Given the description of an element on the screen output the (x, y) to click on. 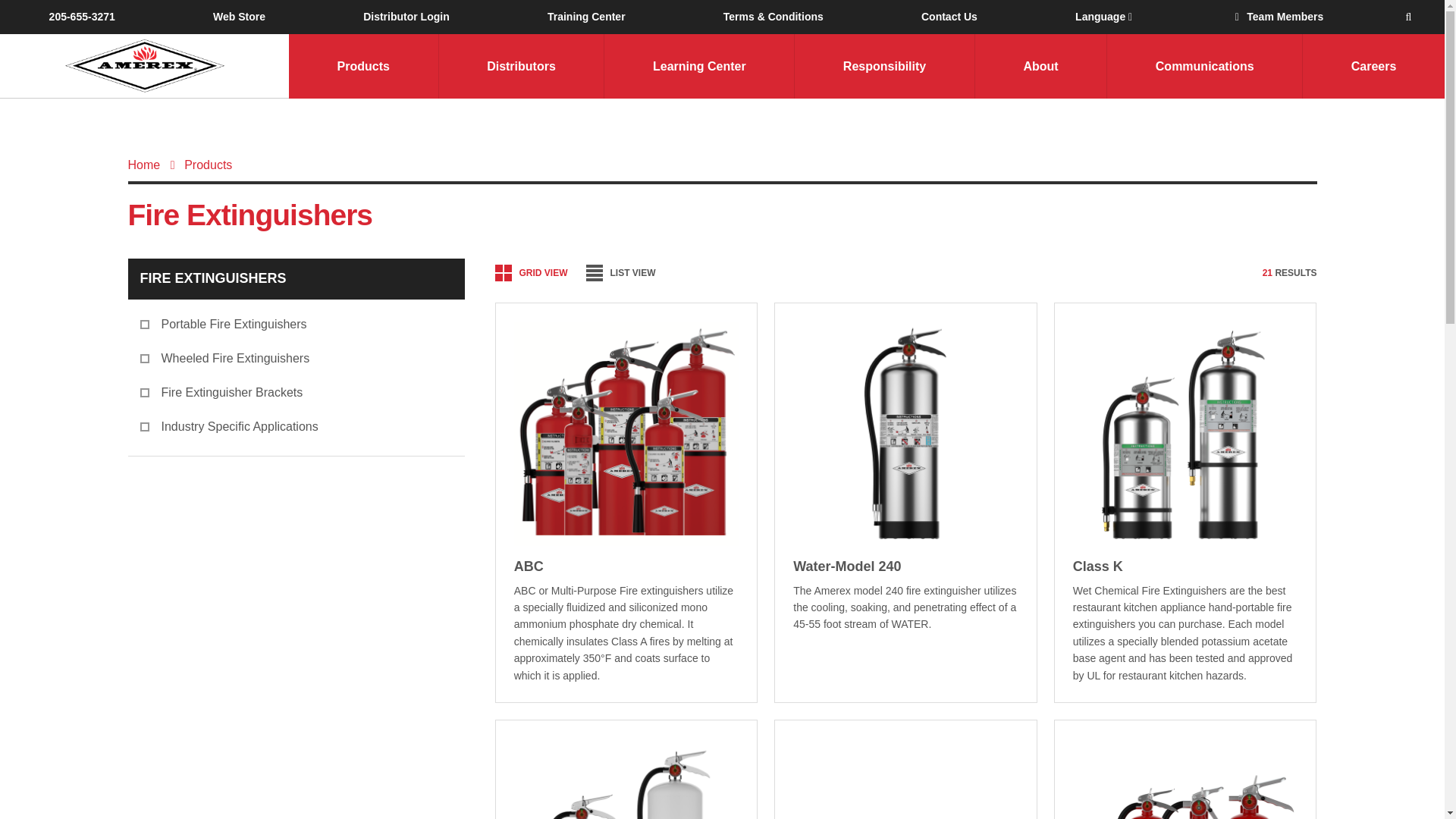
Distributor Login (406, 17)
Products (363, 66)
Language (1103, 17)
Responsibility (883, 66)
Distributors (521, 66)
Contact Us (949, 17)
Training Center (585, 17)
205-655-3271 (81, 17)
Team Members (1276, 17)
Learning Center (698, 66)
